Given the description of an element on the screen output the (x, y) to click on. 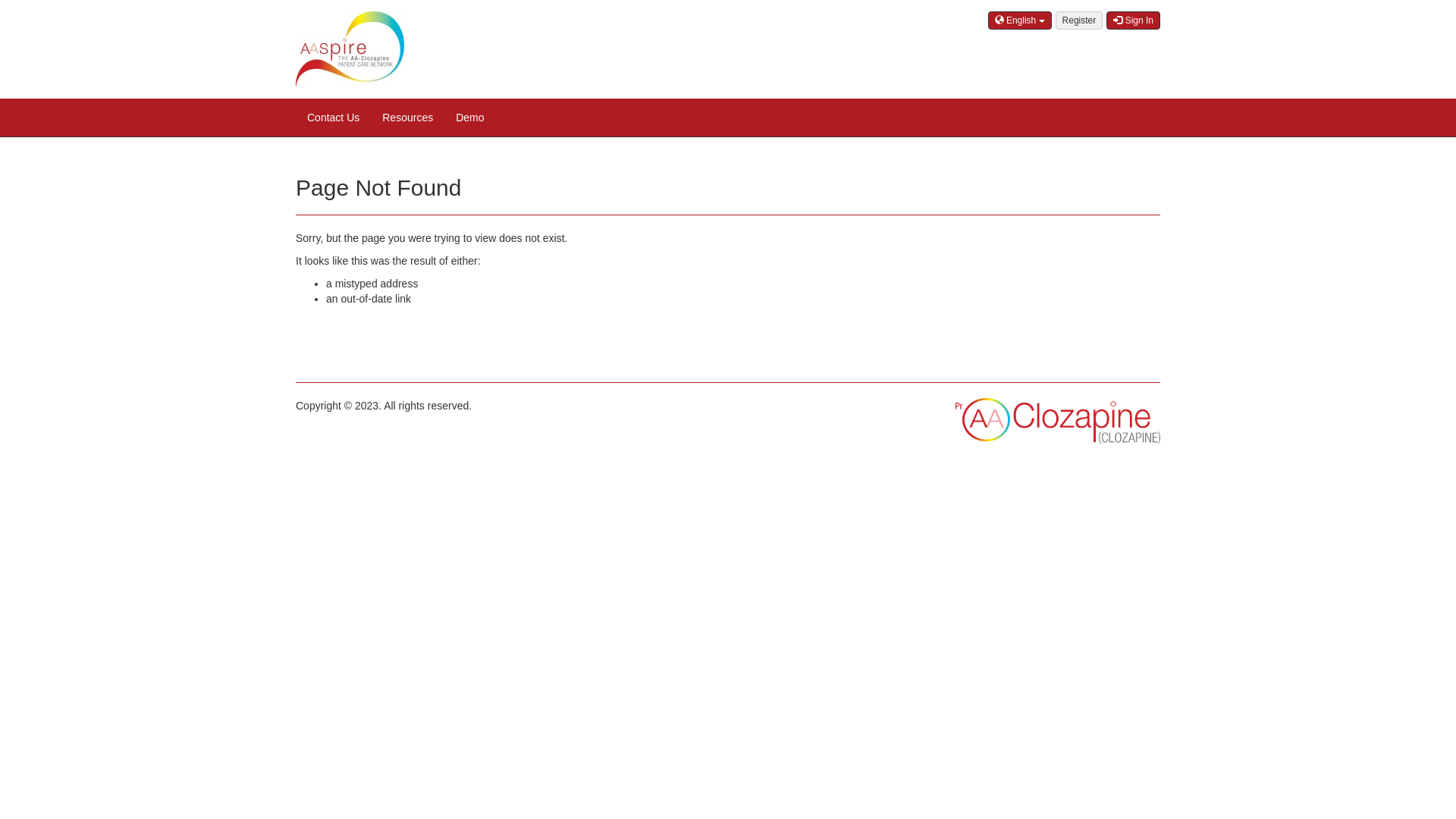
Register Element type: text (1079, 20)
Demo Element type: text (469, 117)
Resources Element type: text (407, 117)
Sign In Element type: text (1133, 20)
Contact Us Element type: text (332, 117)
English Element type: text (1019, 20)
